Given the description of an element on the screen output the (x, y) to click on. 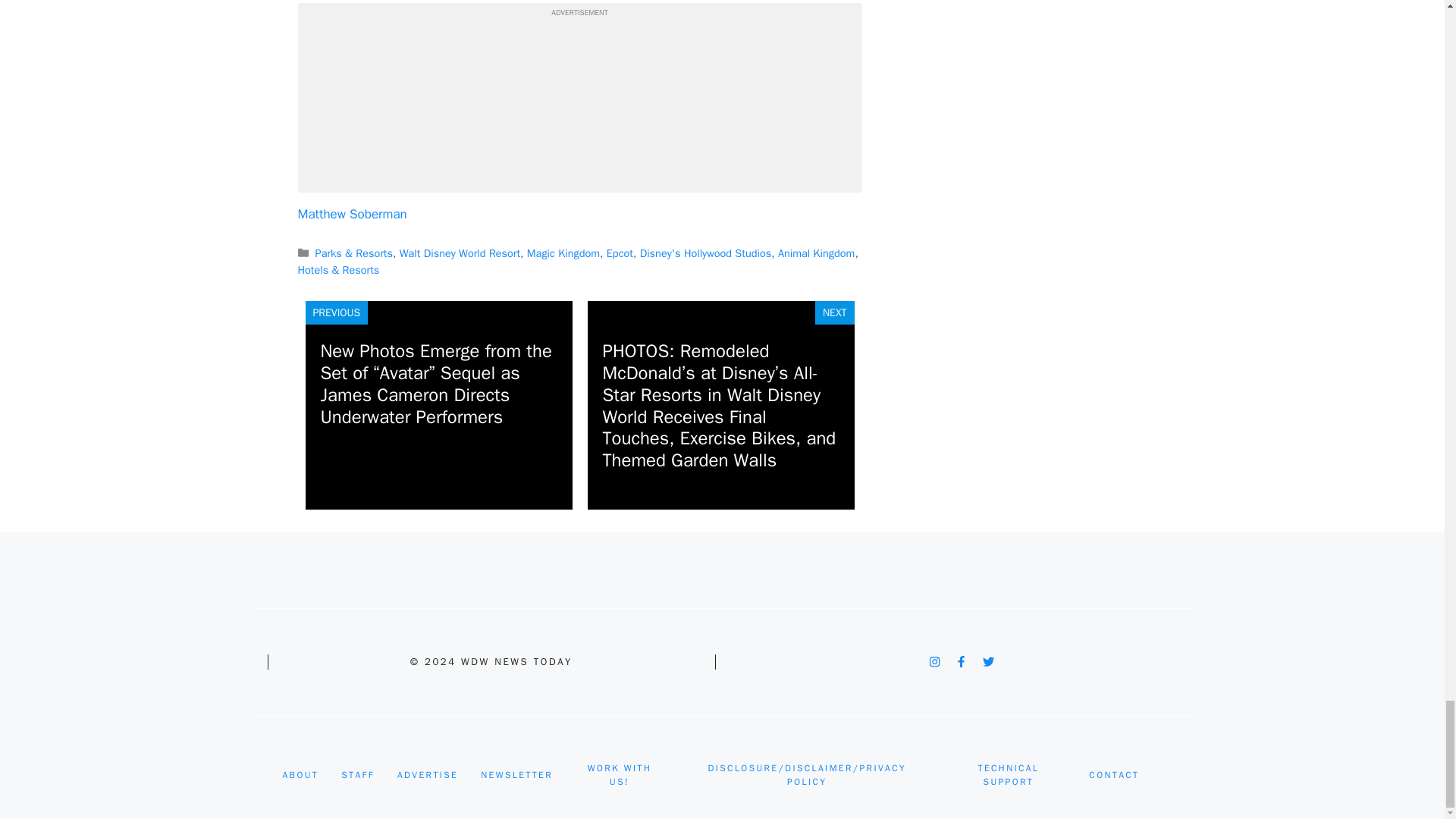
Matthew Soberman (351, 213)
